Given the description of an element on the screen output the (x, y) to click on. 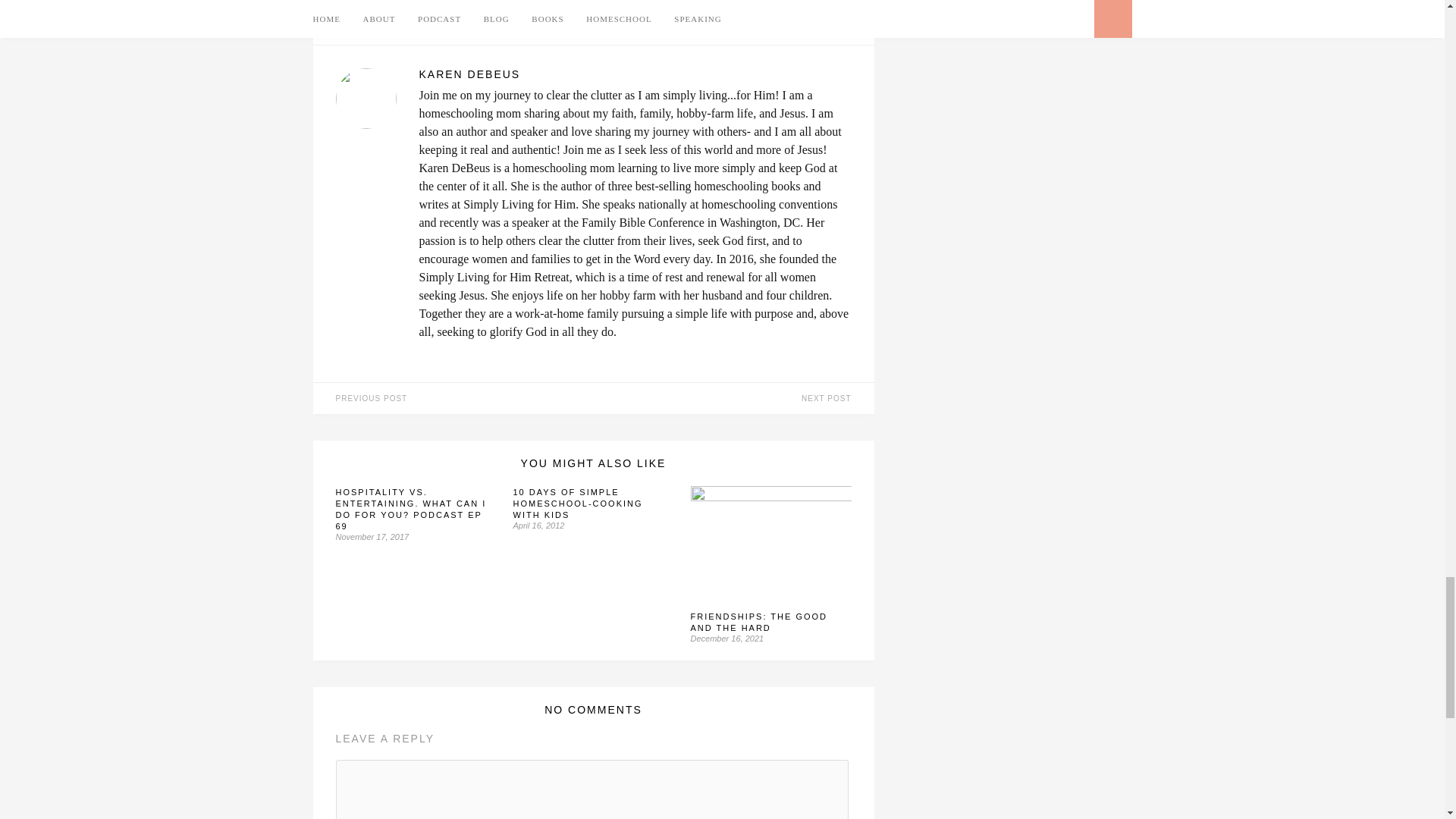
Posts by Karen DeBeus (634, 73)
Posts by Karen DeBeus (459, 15)
Karen DeBeus (459, 15)
KAREN DEBEUS (634, 73)
